Given the description of an element on the screen output the (x, y) to click on. 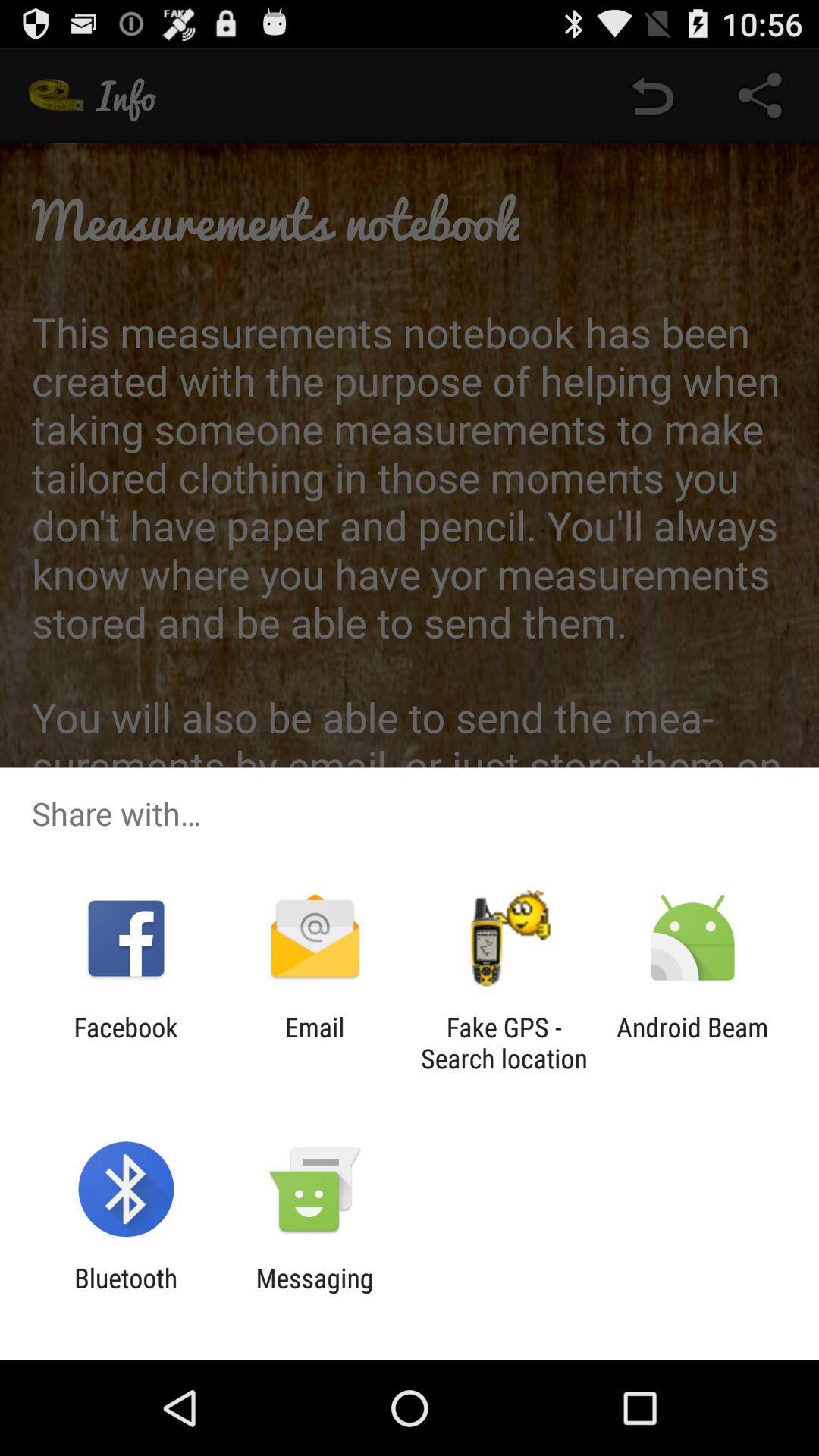
tap item next to the email icon (125, 1042)
